Given the description of an element on the screen output the (x, y) to click on. 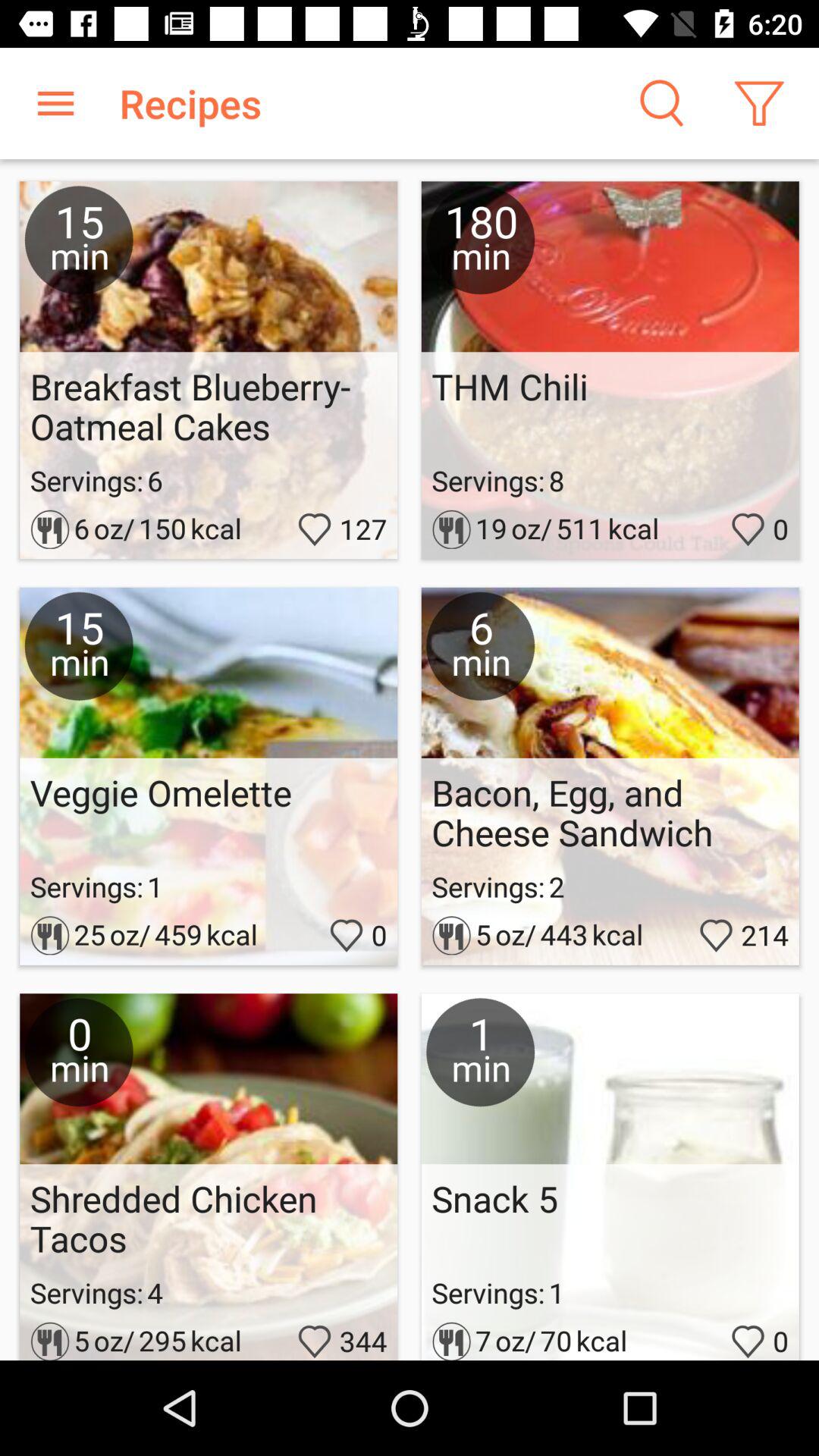
filter results (759, 103)
